Given the description of an element on the screen output the (x, y) to click on. 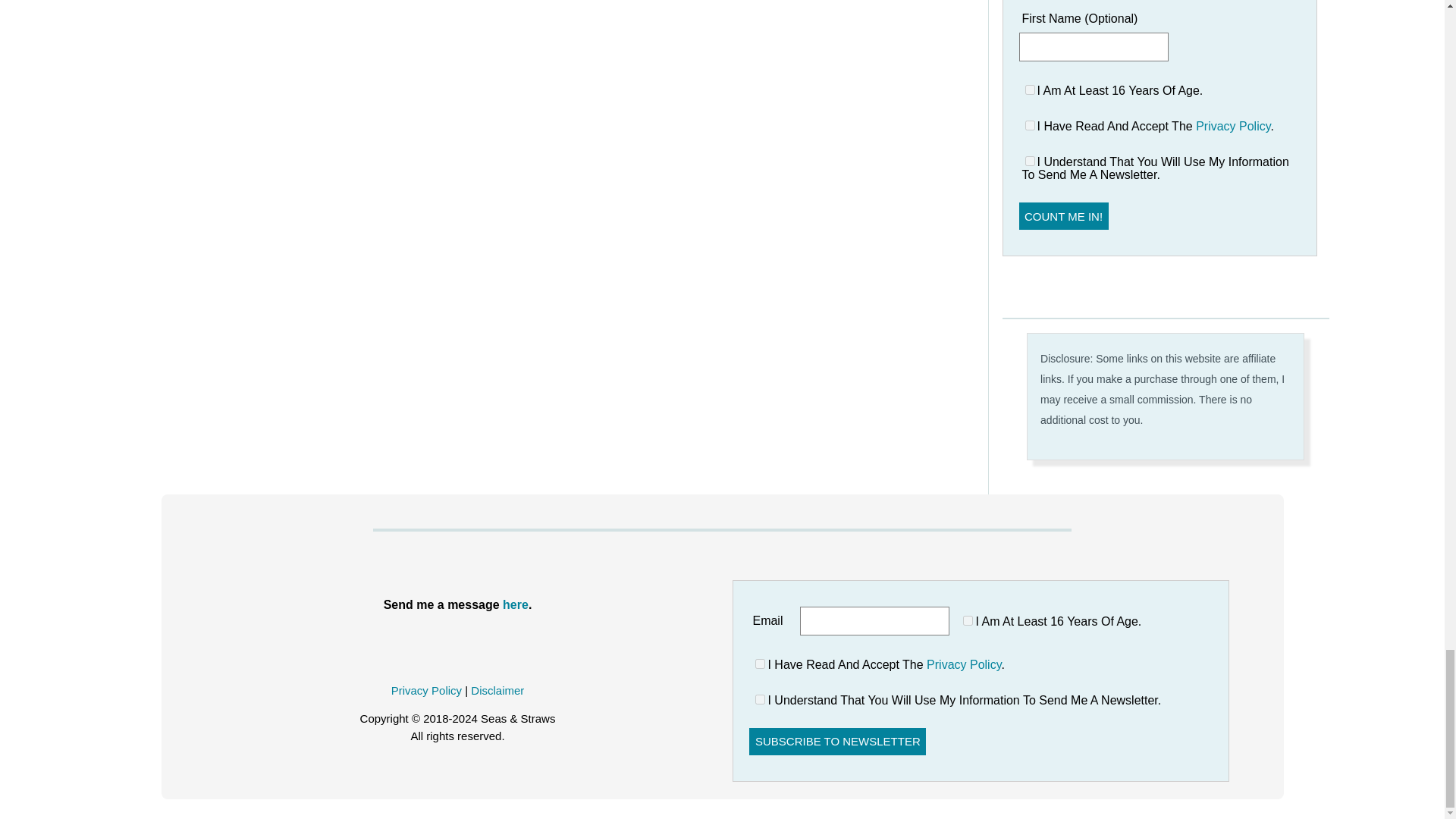
on (967, 620)
on (1030, 125)
on (1030, 90)
on (760, 699)
on (1030, 161)
on (760, 664)
